Given the description of an element on the screen output the (x, y) to click on. 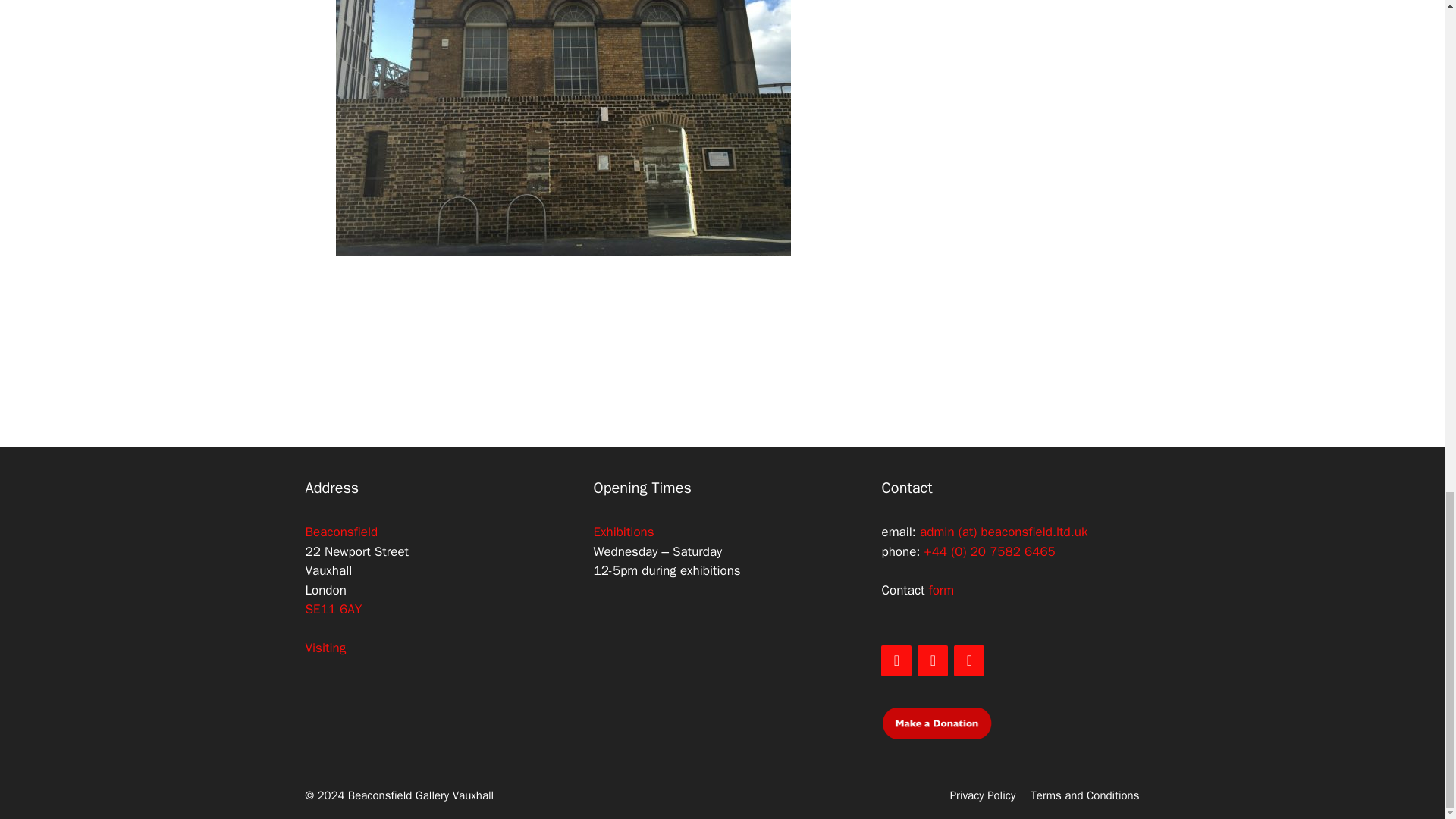
Twitter (895, 660)
Instagram (968, 660)
Facebook (932, 660)
